Given the description of an element on the screen output the (x, y) to click on. 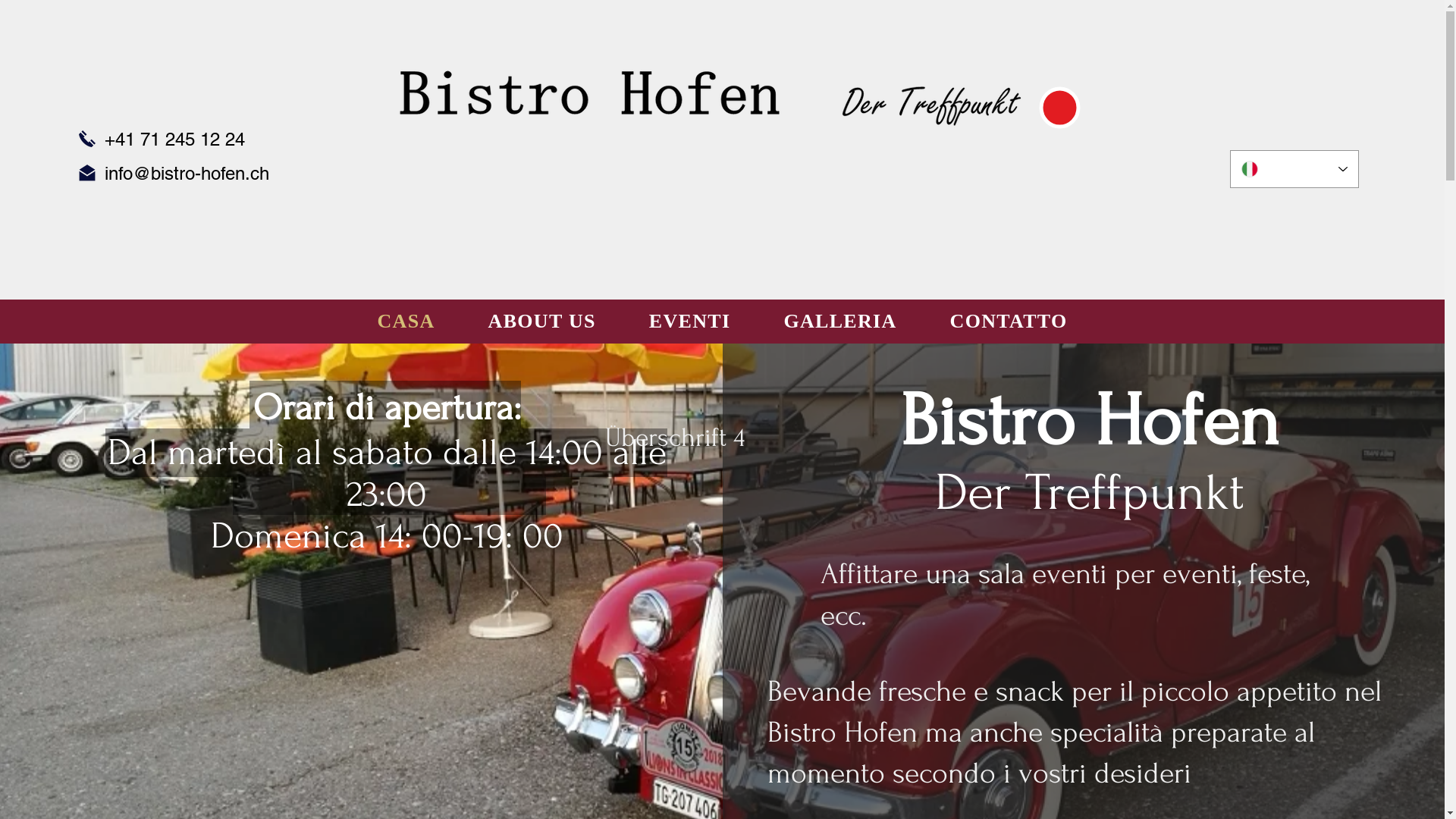
info@bistro-hofen.ch Element type: text (186, 173)
CASA Element type: text (405, 321)
CONTATTO Element type: text (1008, 321)
GALLERIA Element type: text (839, 321)
EVENTI Element type: text (689, 321)
ABOUT US Element type: text (541, 321)
